Given the description of an element on the screen output the (x, y) to click on. 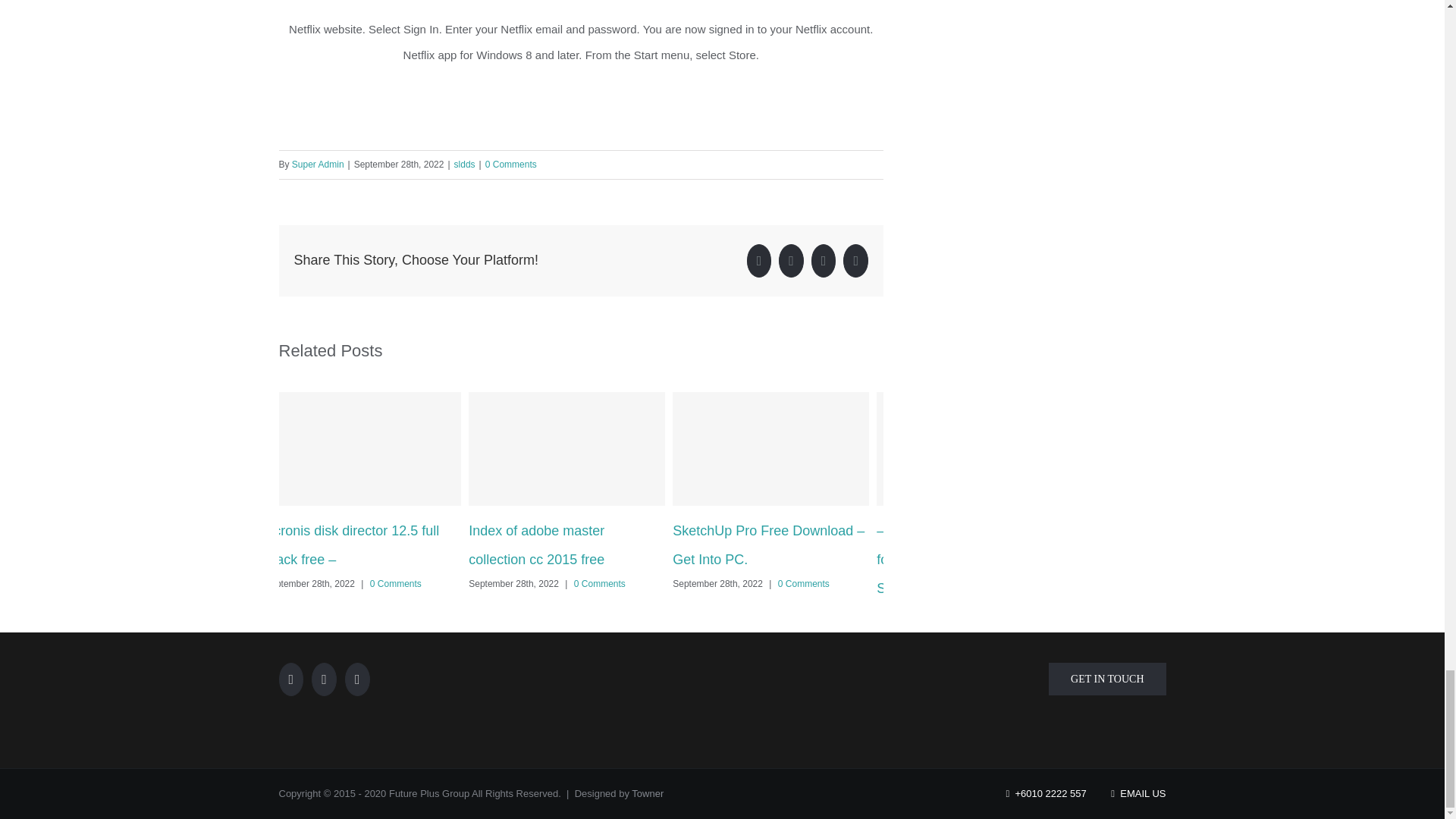
LinkedIn (822, 260)
Posts by Super Admin (317, 163)
Index of adobe master collection cc 2015 free (536, 545)
Super Admin (317, 163)
Facebook (758, 260)
0 Comments (510, 163)
sldds (465, 163)
0 Comments (395, 583)
Pinterest (855, 260)
Twitter (790, 260)
